Given the description of an element on the screen output the (x, y) to click on. 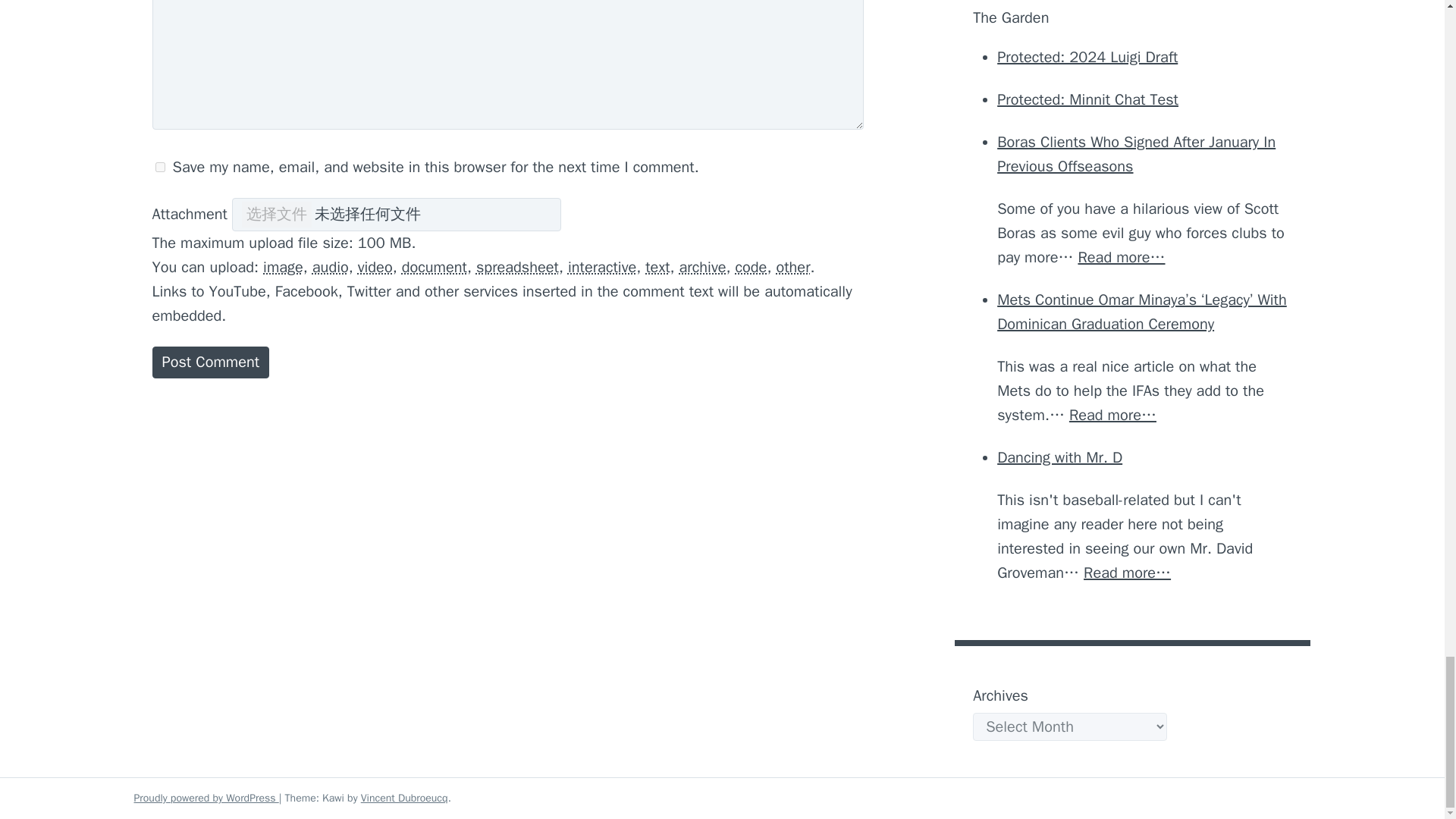
xls, xlsx, xlsm, xlsb, ods, numbers (517, 266)
mp3, m4a, m4b, aac, ram, wav, ogg, oga, flac, wma, mka (331, 266)
jpg, jpeg, jpe, gif, png, bmp, tiff, tif, webp, ico, heic (282, 266)
tar, zip, gz, rar, 7z (702, 266)
txt, asc, csv, tsv (657, 266)
pps, ppt, pptx, pptm, ppsx, ppsm, sldx, sldm, odp, key (601, 266)
Post Comment (210, 362)
yes (159, 166)
